Given the description of an element on the screen output the (x, y) to click on. 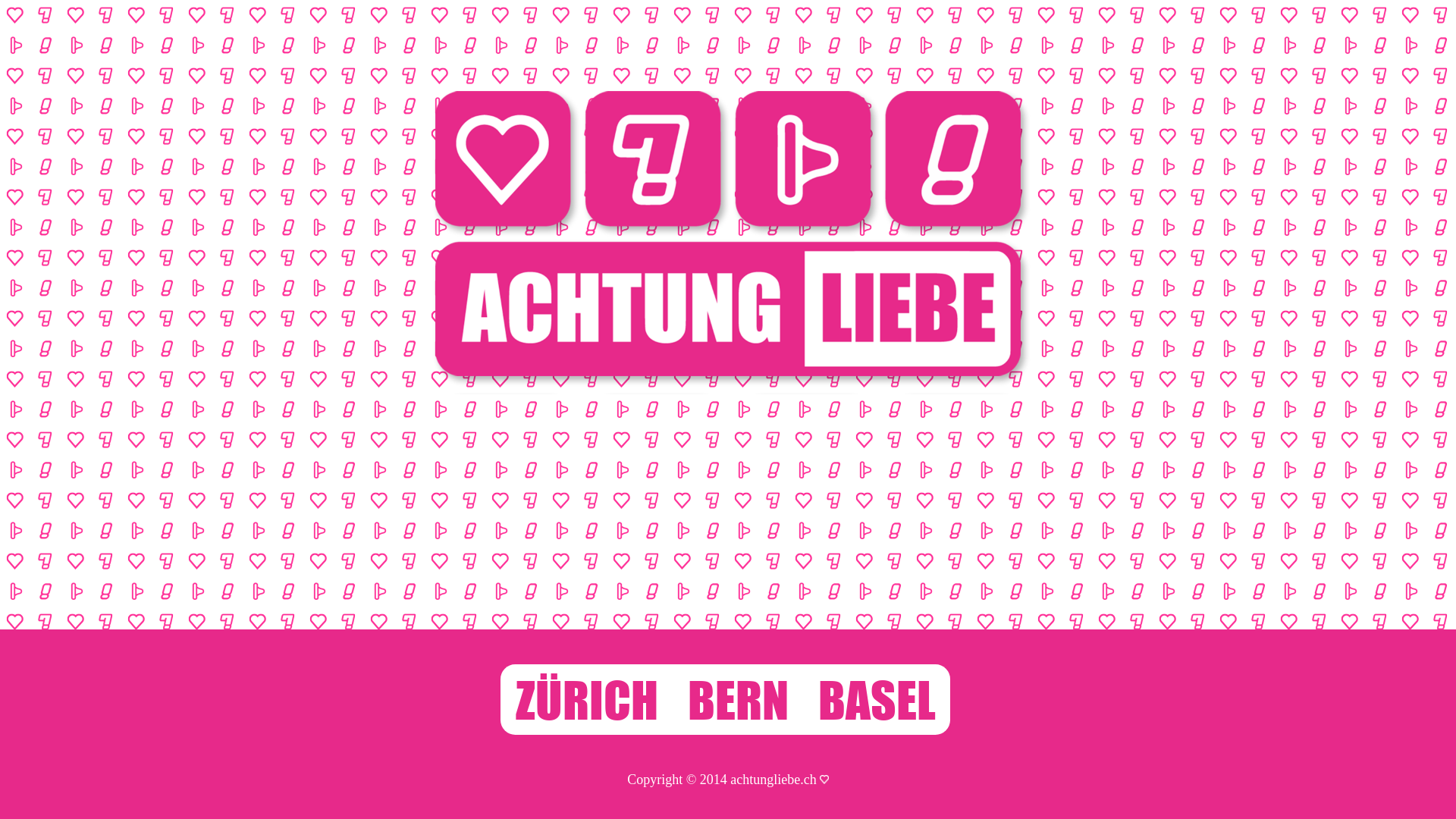
Zur Seitenadministration Element type: hover (823, 779)
achtungliebe.ch Element type: text (772, 779)
